Given the description of an element on the screen output the (x, y) to click on. 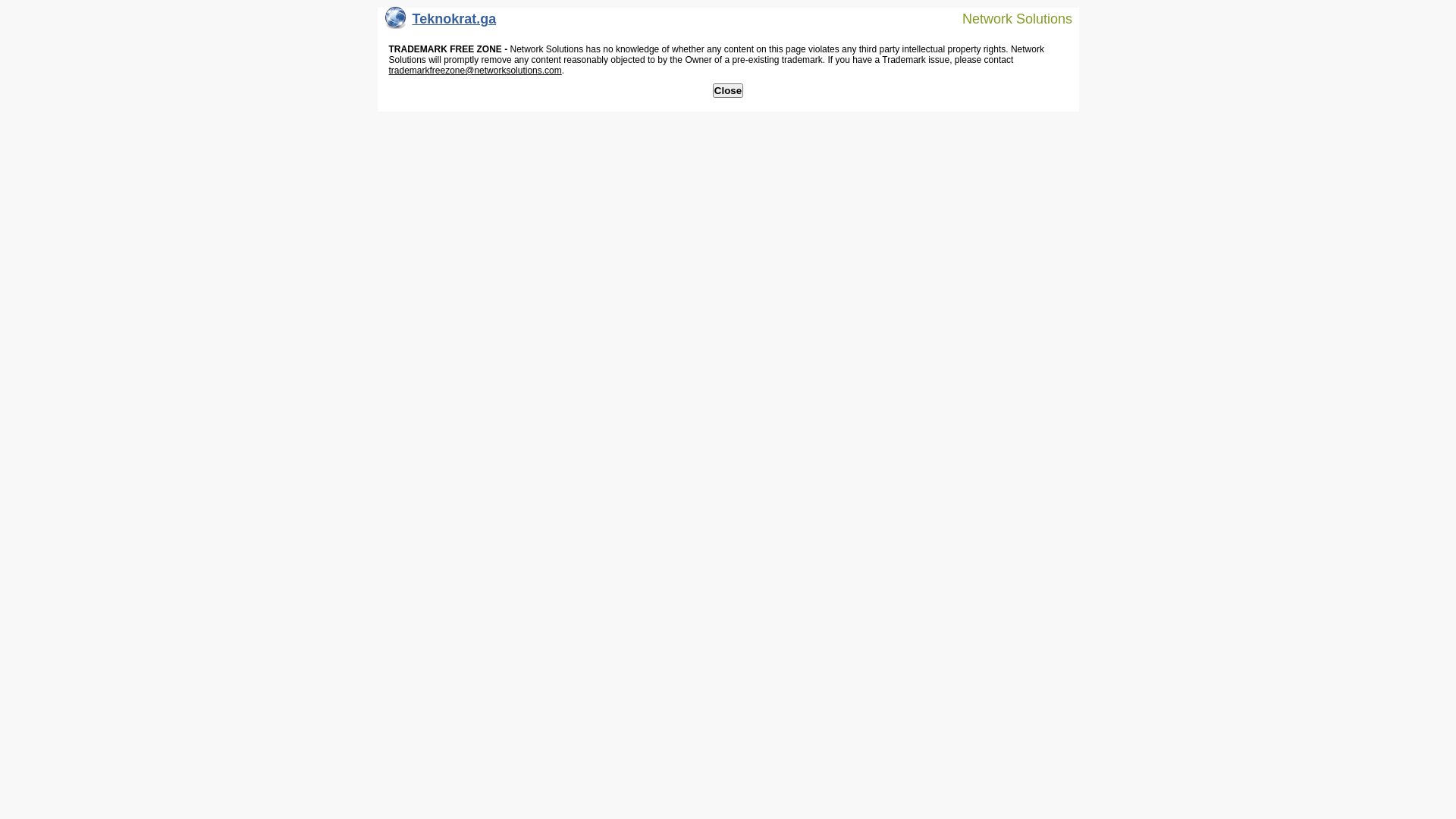
Teknokrat.ga Element type: text (440, 21)
trademarkfreezone@networksolutions.com Element type: text (474, 70)
Close Element type: text (727, 90)
Network Solutions Element type: text (1007, 17)
